Given the description of an element on the screen output the (x, y) to click on. 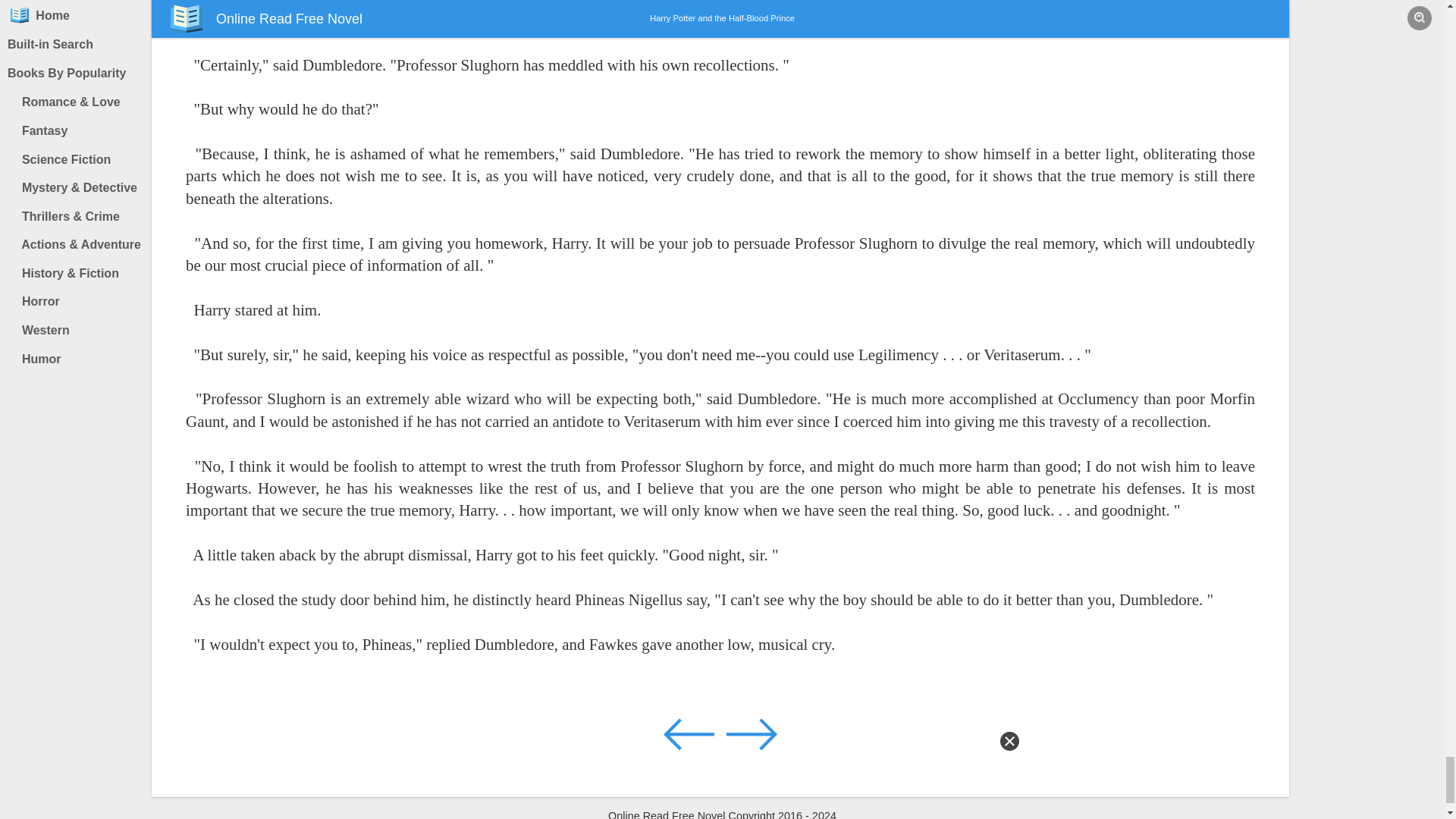
Previous Page (690, 733)
Next Page (751, 733)
